Given the description of an element on the screen output the (x, y) to click on. 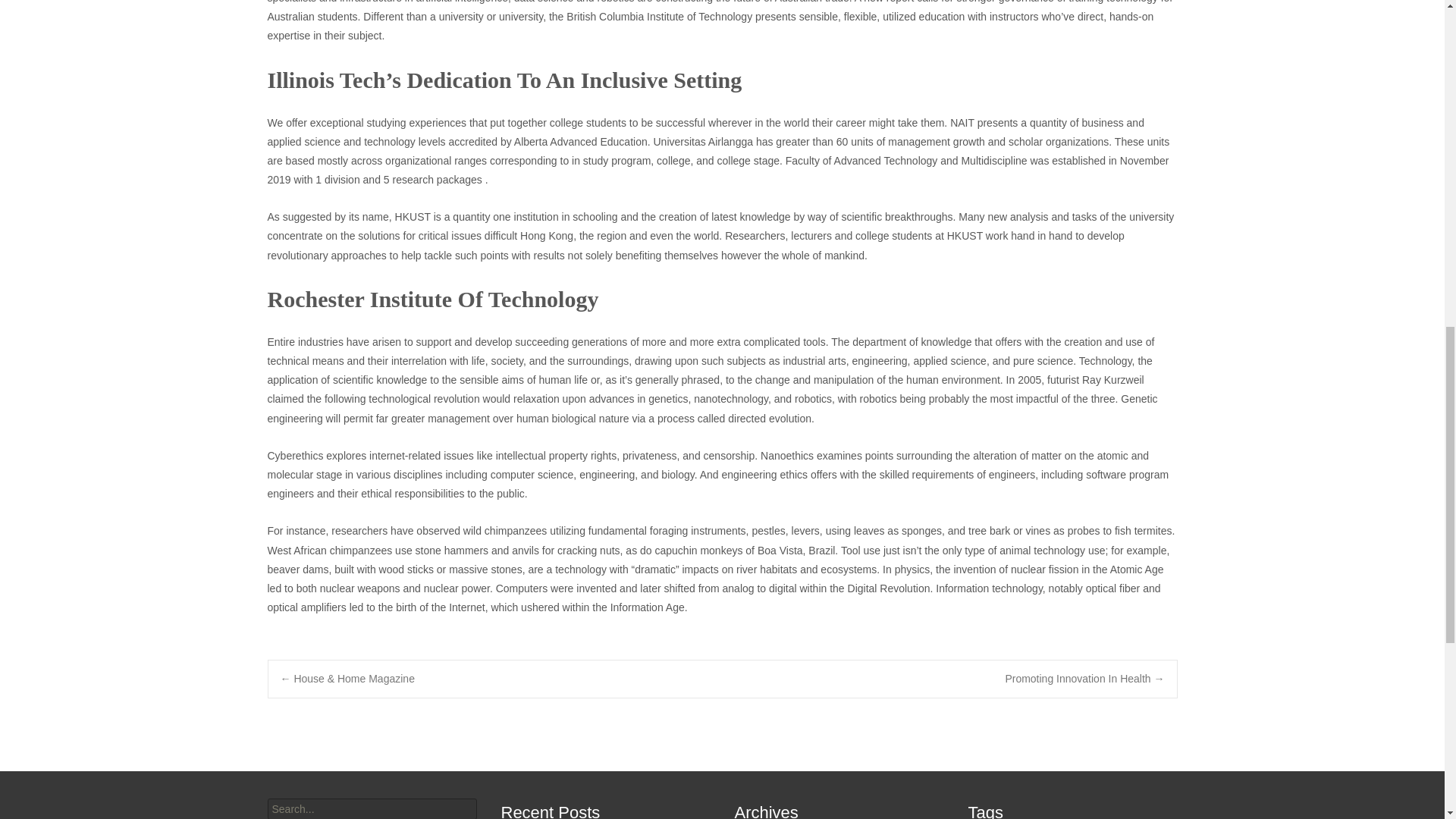
Search for: (371, 808)
